Given the description of an element on the screen output the (x, y) to click on. 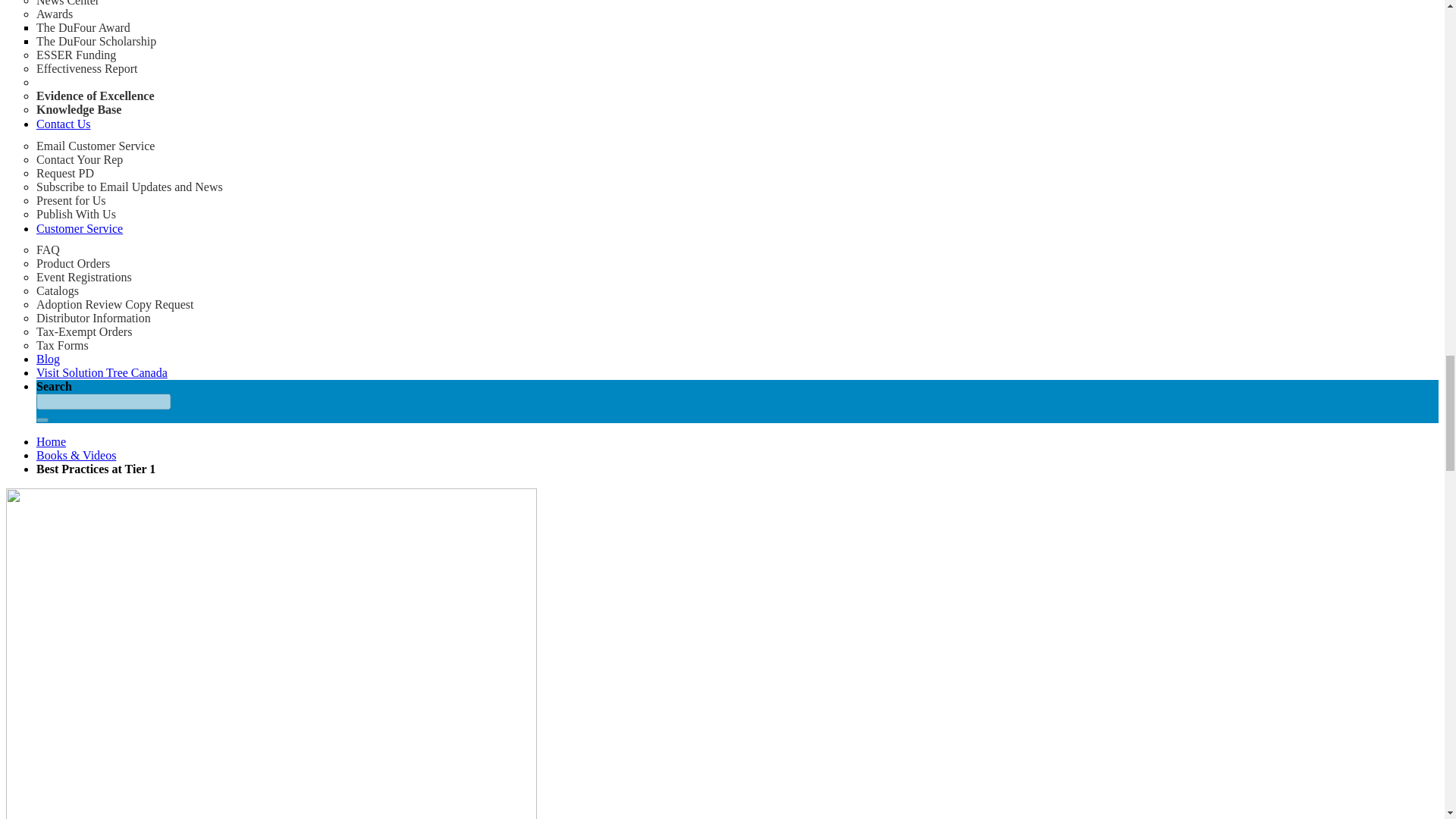
Go to Home Page (50, 440)
Search (42, 419)
